Given the description of an element on the screen output the (x, y) to click on. 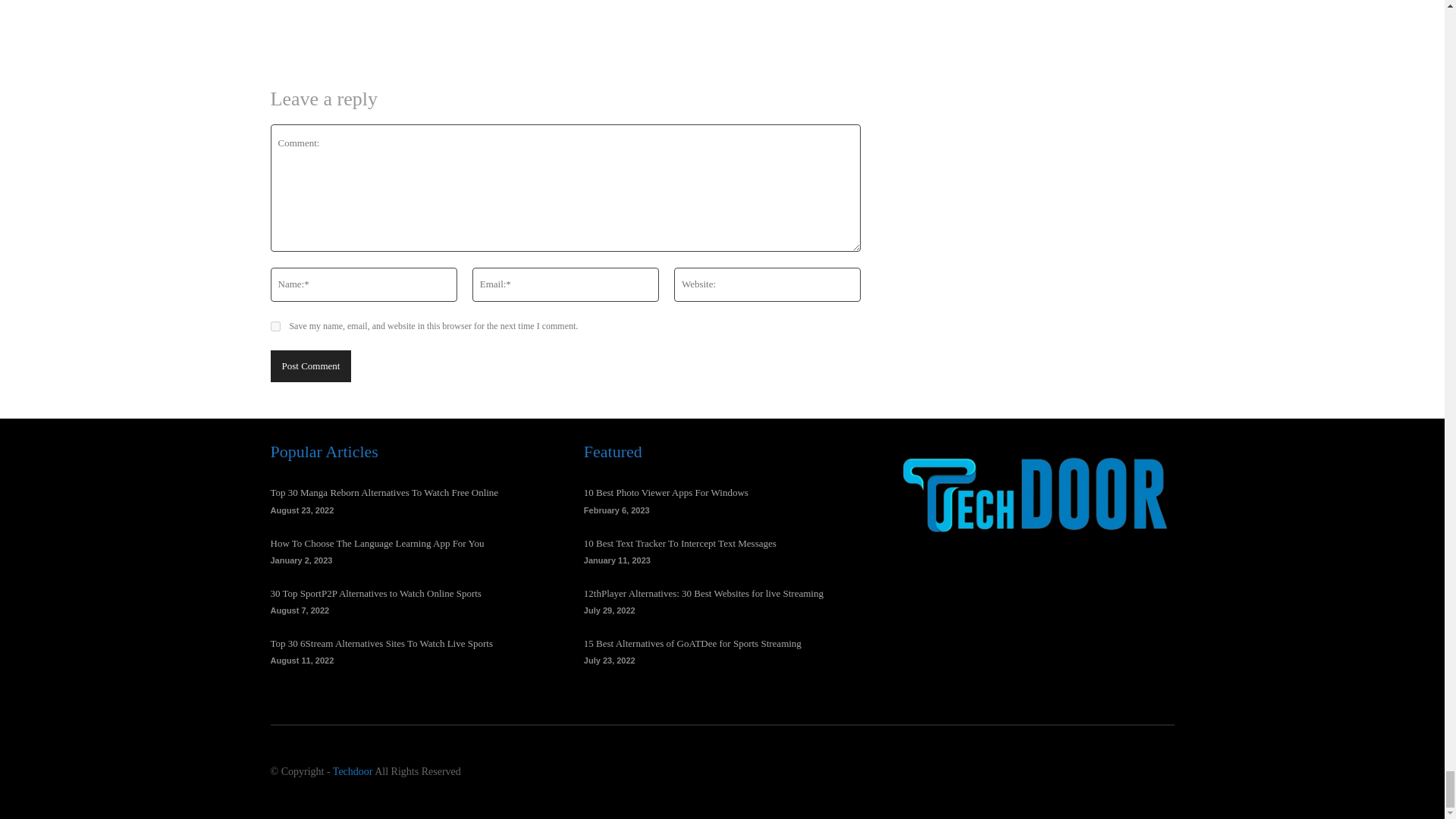
Post Comment (309, 366)
yes (274, 326)
